Given the description of an element on the screen output the (x, y) to click on. 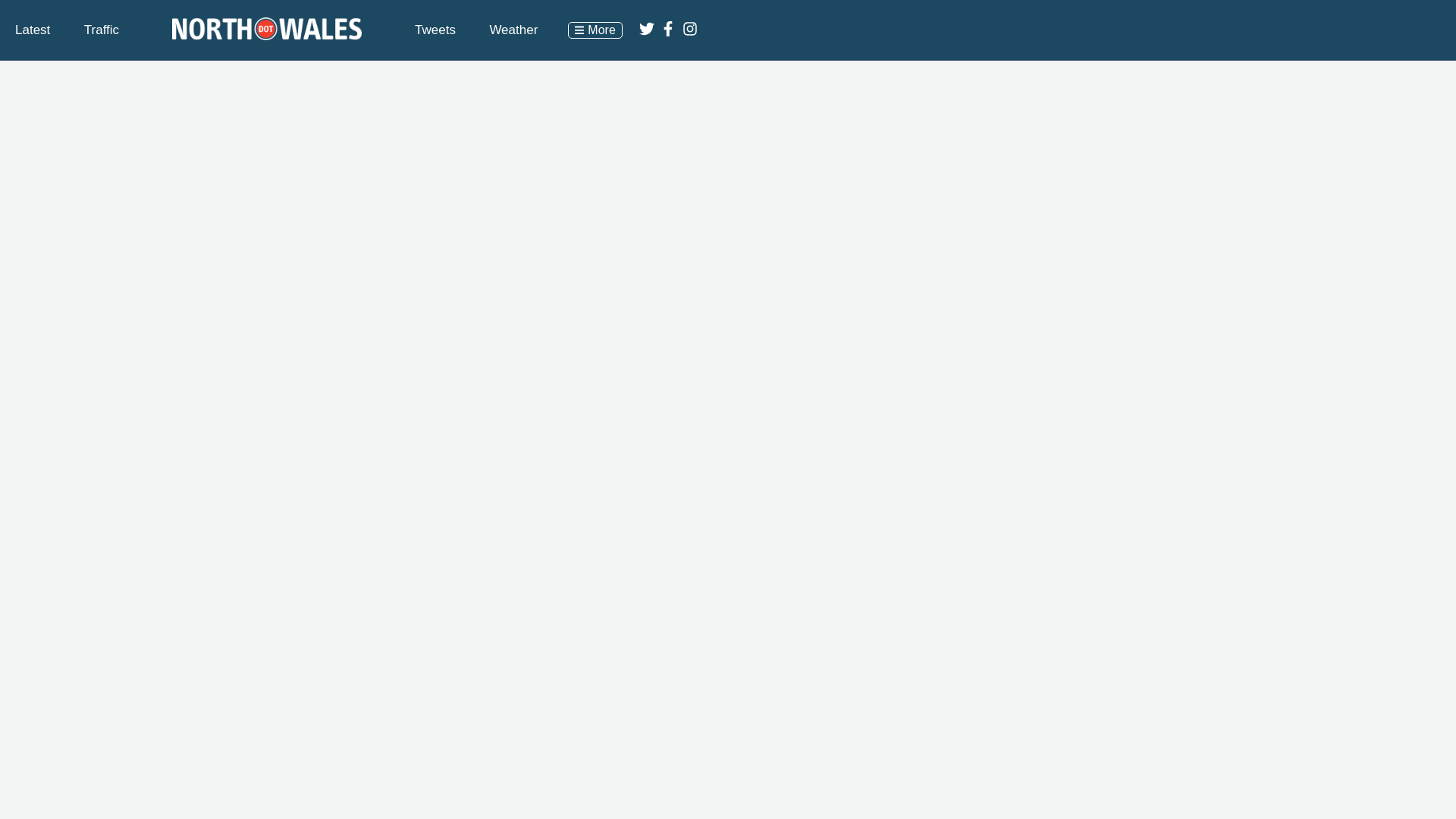
Tweets (434, 29)
Weather (513, 29)
Latest (31, 29)
Traffic (101, 29)
